Given the description of an element on the screen output the (x, y) to click on. 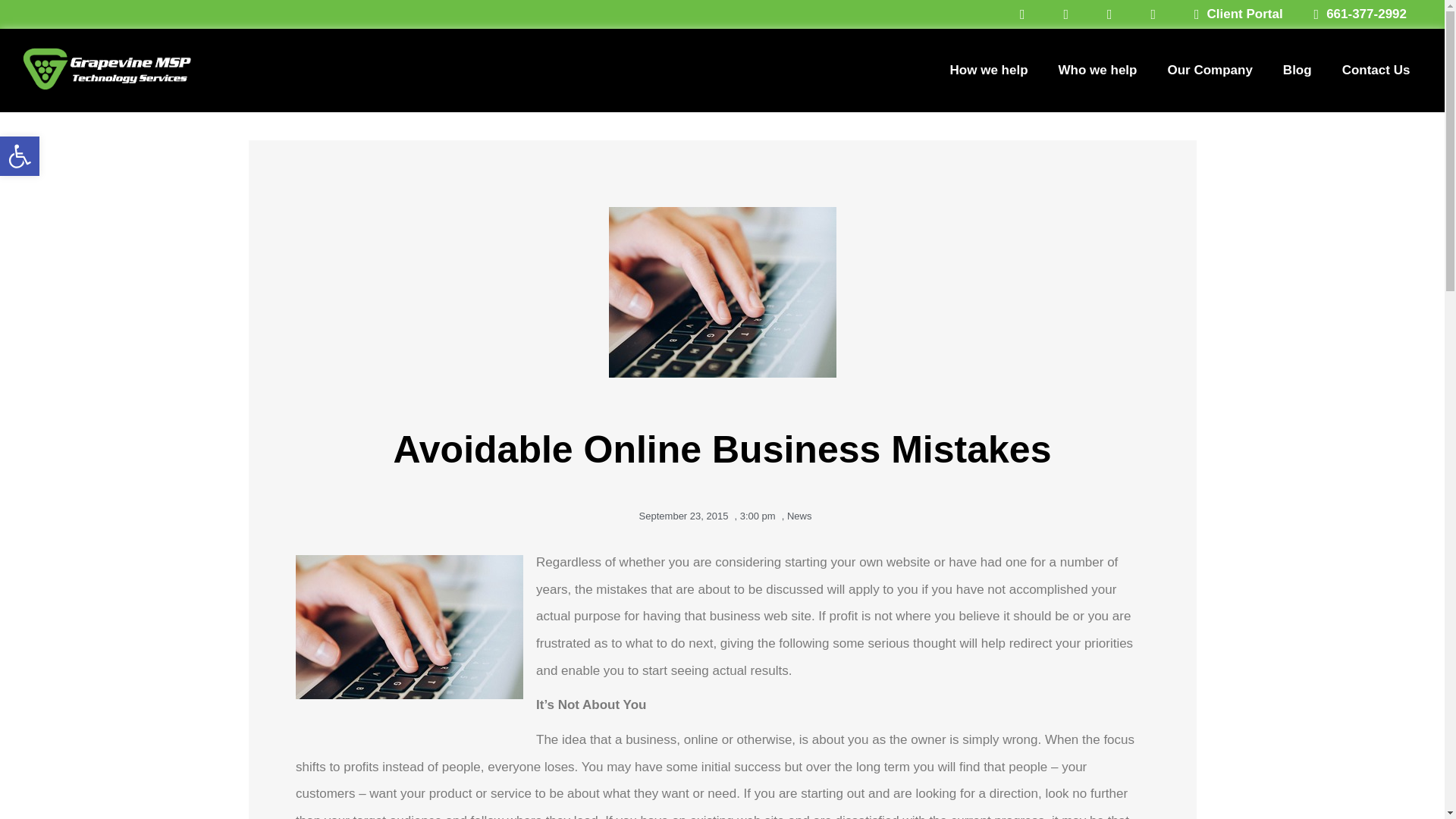
September 23, 2015 (681, 516)
Accessibility Tools (19, 156)
Accessibility Tools (19, 156)
Blog (1297, 70)
Our Company (1208, 70)
Contact Us (1375, 70)
How we help (988, 70)
661-377-2992 (1353, 14)
